Given the description of an element on the screen output the (x, y) to click on. 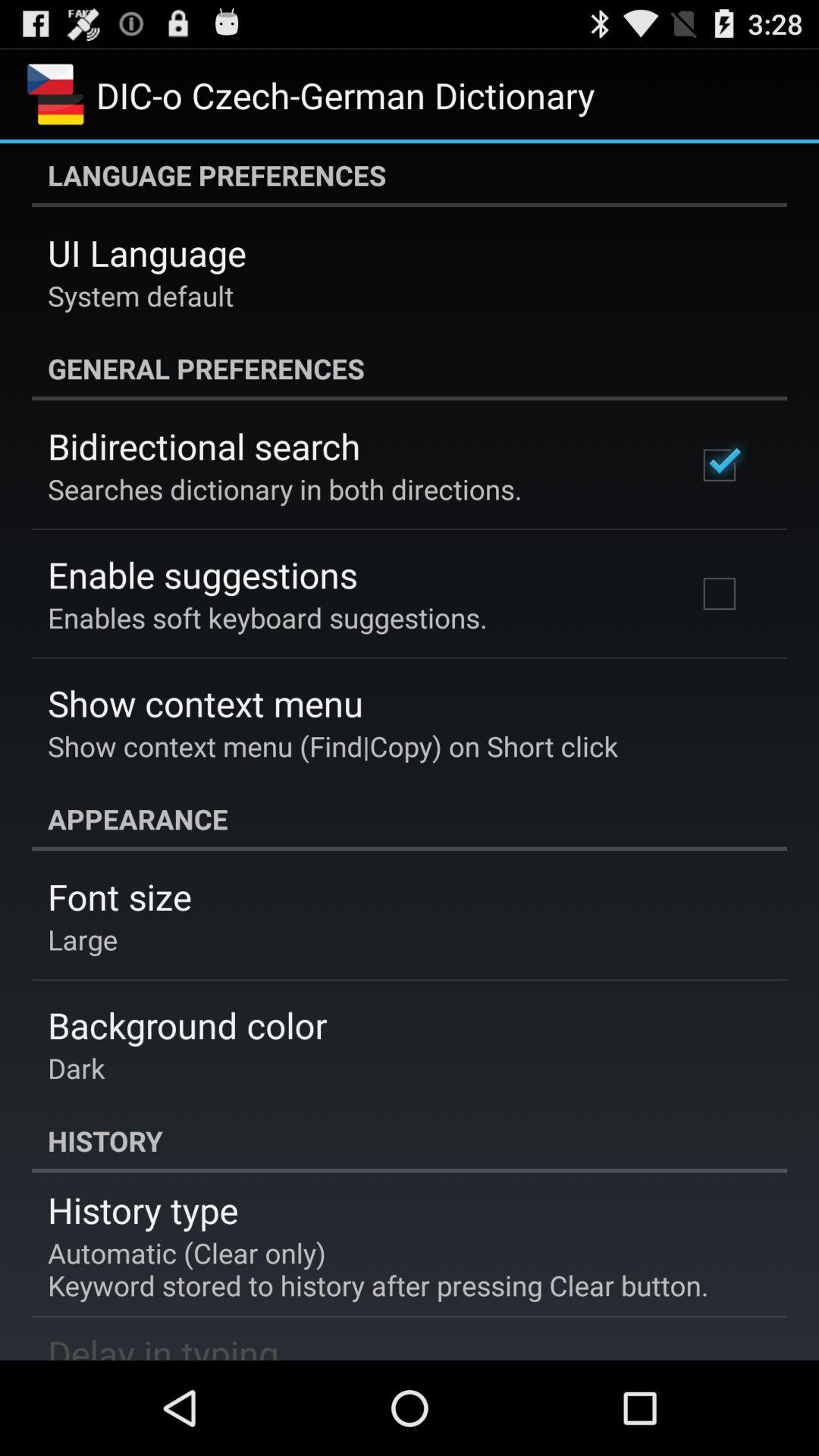
select bidirectional search app (203, 446)
